Given the description of an element on the screen output the (x, y) to click on. 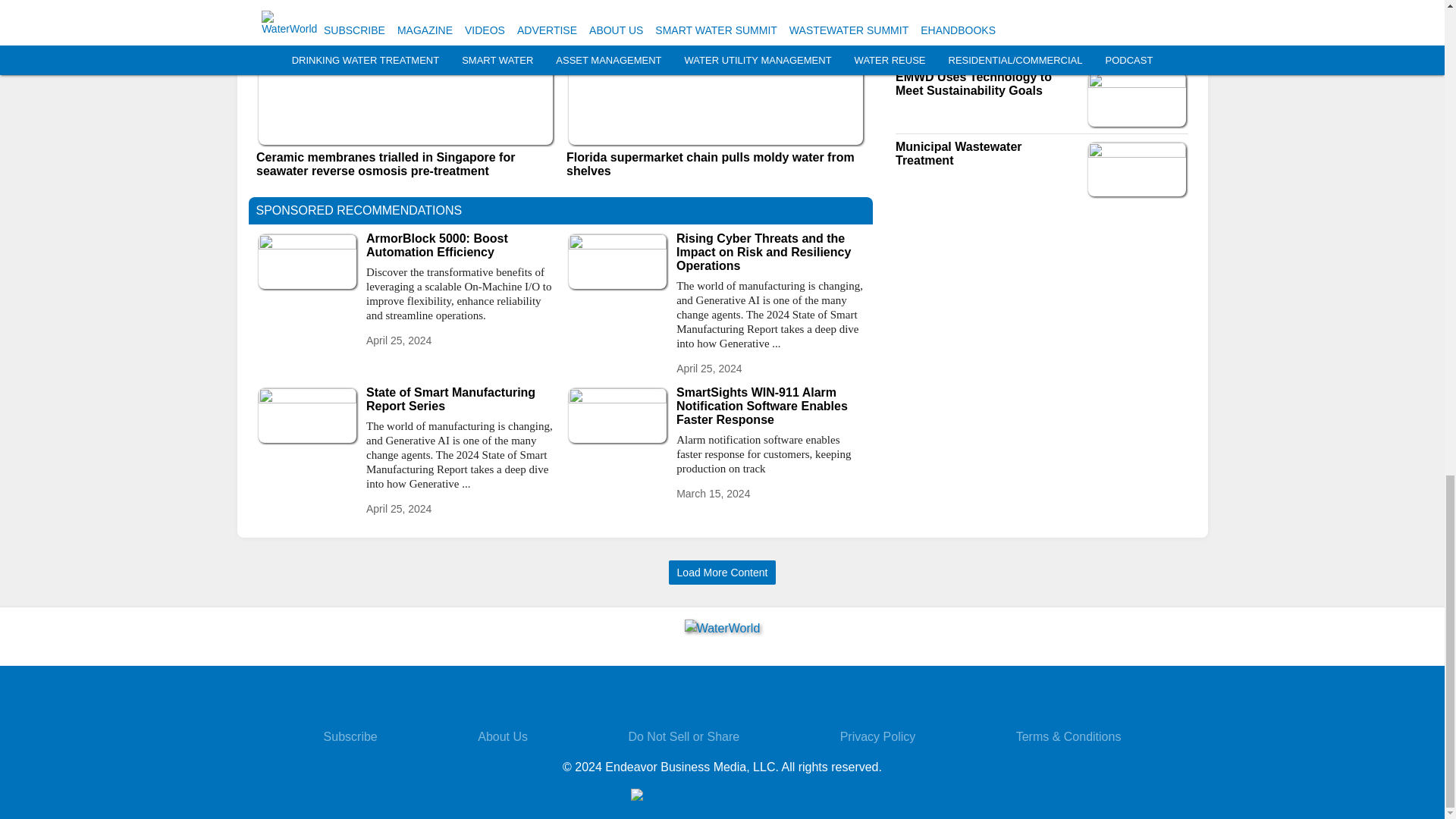
ArmorBlock 5000: Boost Automation Efficiency (459, 245)
Florida supermarket chain pulls moldy water from shelves (715, 164)
